Given the description of an element on the screen output the (x, y) to click on. 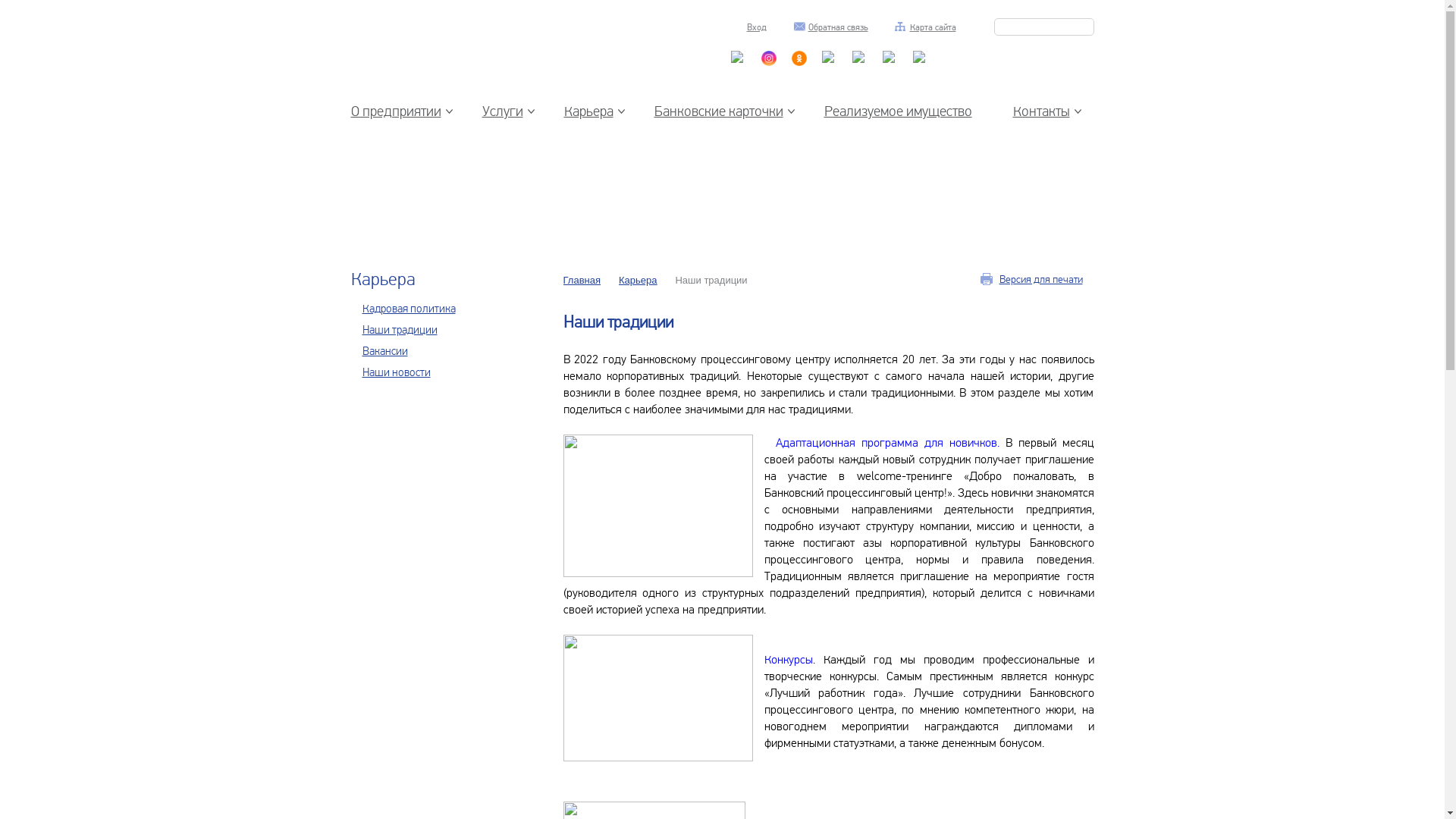
Facebook Element type: hover (829, 70)
Facebook Element type: hover (889, 70)
Facebook Element type: hover (859, 70)
Facebook Element type: hover (920, 70)
Instagram Element type: hover (768, 61)
